Given the description of an element on the screen output the (x, y) to click on. 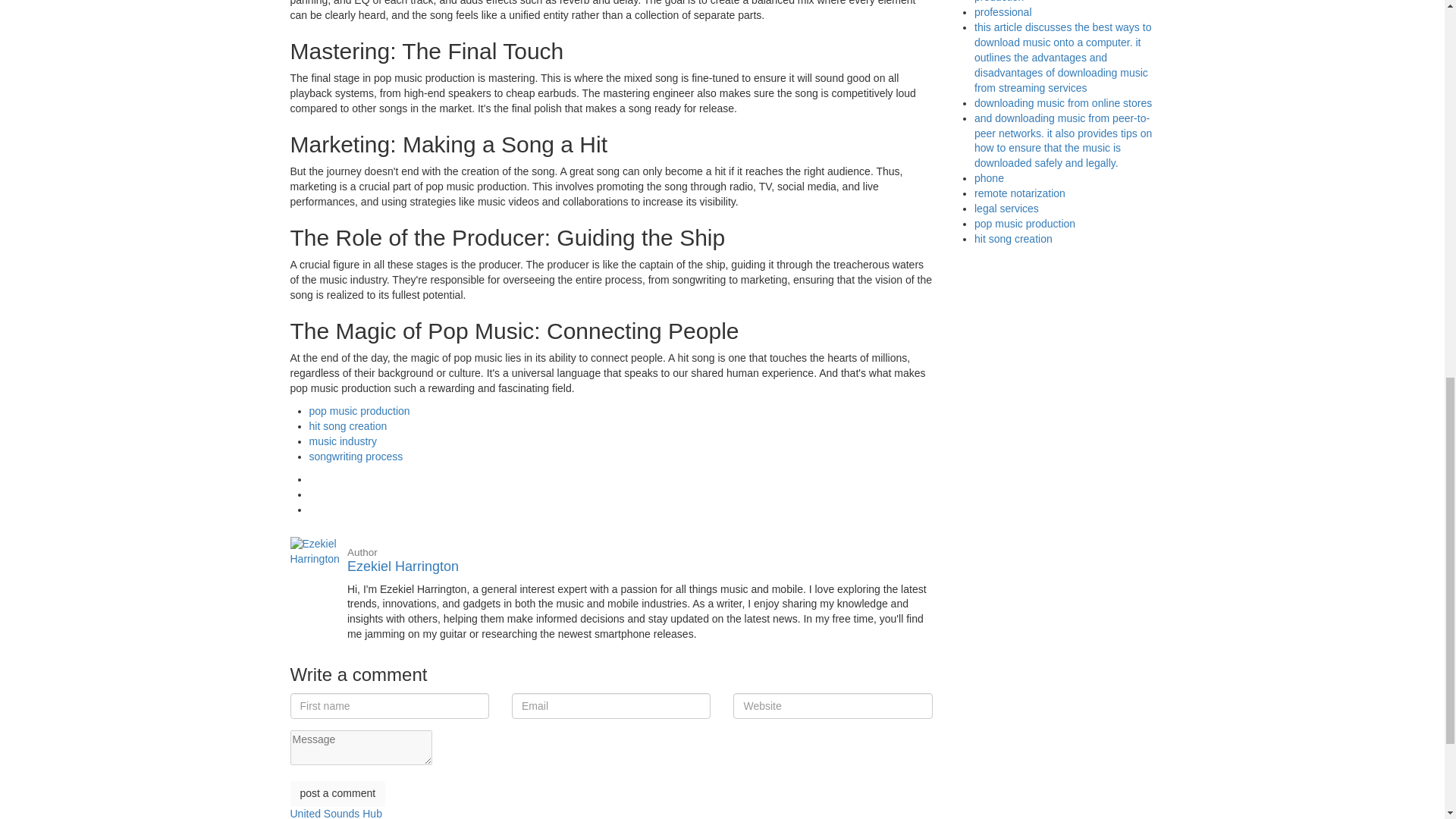
music industry (342, 440)
pop music production (359, 410)
professional (1003, 11)
production (998, 1)
post a comment (337, 793)
hit song creation (347, 426)
songwriting process (402, 558)
